Given the description of an element on the screen output the (x, y) to click on. 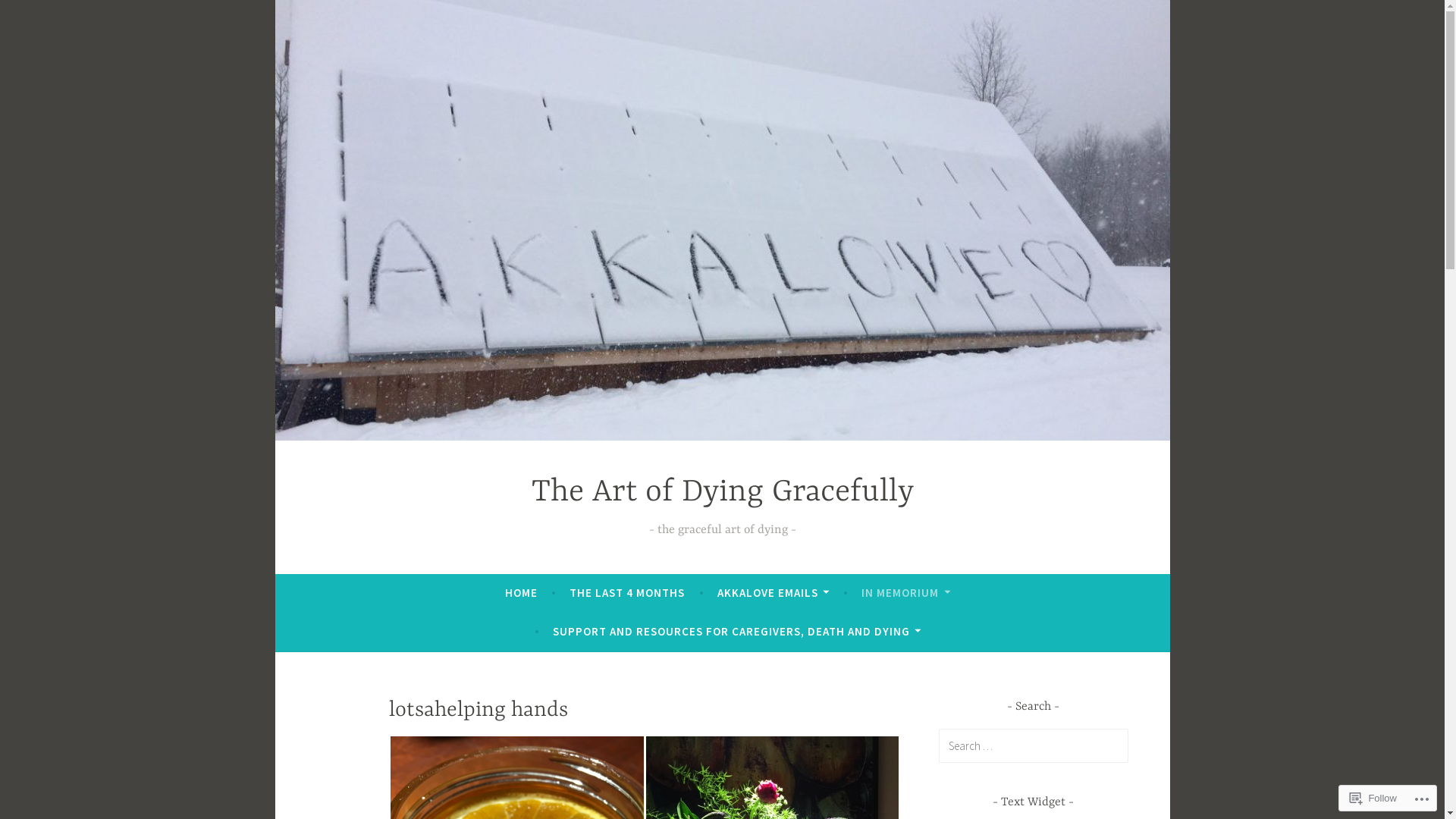
IN MEMORIUM Element type: text (905, 592)
SUPPORT AND RESOURCES FOR CAREGIVERS, DEATH AND DYING Element type: text (736, 631)
Follow Element type: text (1372, 797)
THE LAST 4 MONTHS Element type: text (626, 592)
AKKALOVE EMAILS Element type: text (773, 592)
The Art of Dying Gracefully Element type: text (721, 492)
Search Element type: text (33, 15)
HOME Element type: text (521, 592)
